Given the description of an element on the screen output the (x, y) to click on. 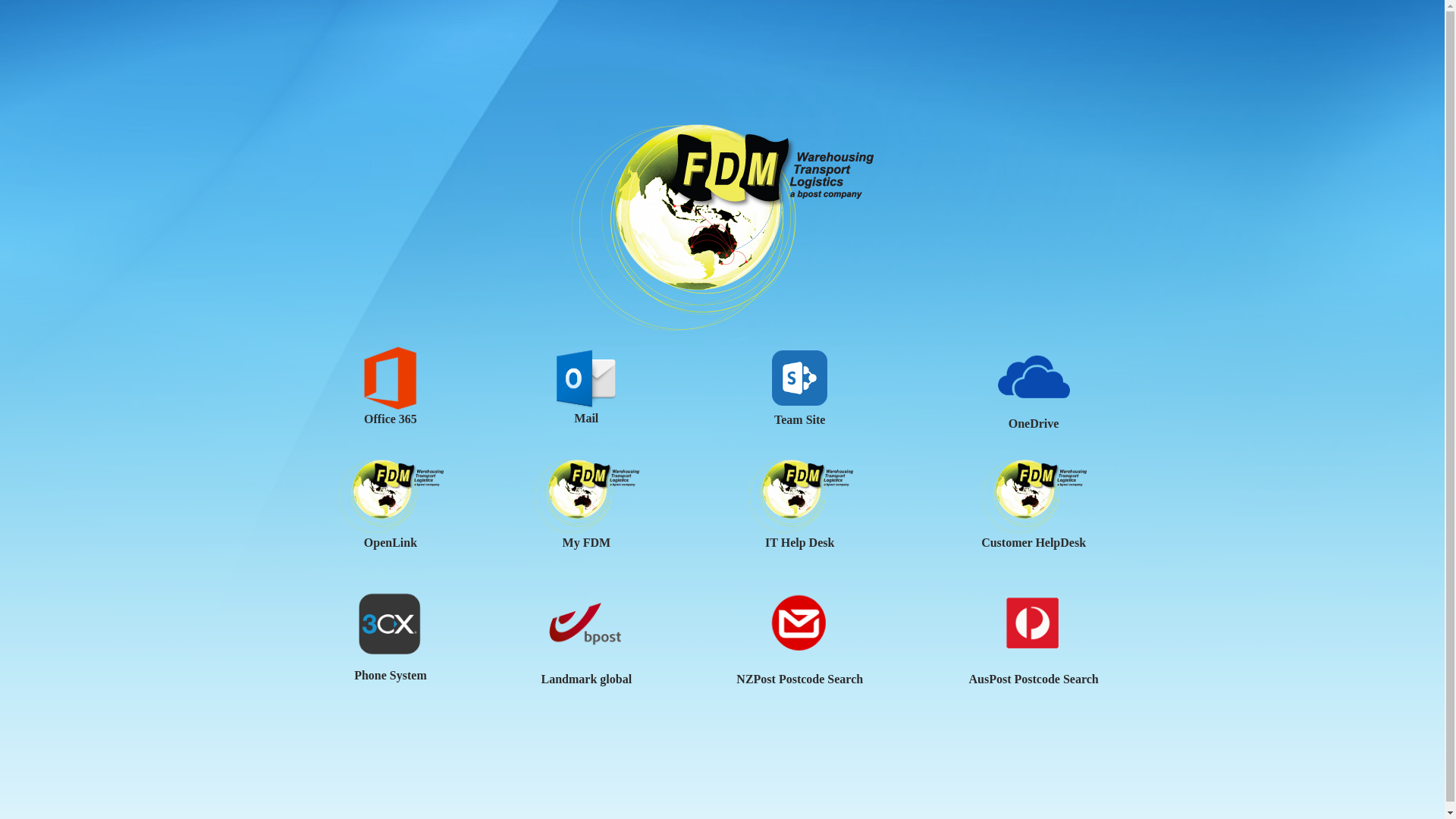
IT Help Desk Element type: text (799, 542)
OneDrive Element type: text (1033, 423)
Phone System Element type: text (390, 674)
NZPost Postcode Search Element type: text (799, 678)
Office 365 Element type: text (390, 418)
Mail Element type: text (586, 417)
Team Site Element type: text (799, 419)
My FDM Element type: text (586, 542)
AusPost Postcode Search Element type: text (1033, 678)
OpenLink Element type: text (390, 542)
Landmark global Element type: text (586, 678)
Customer HelpDesk Element type: text (1033, 542)
